Given the description of an element on the screen output the (x, y) to click on. 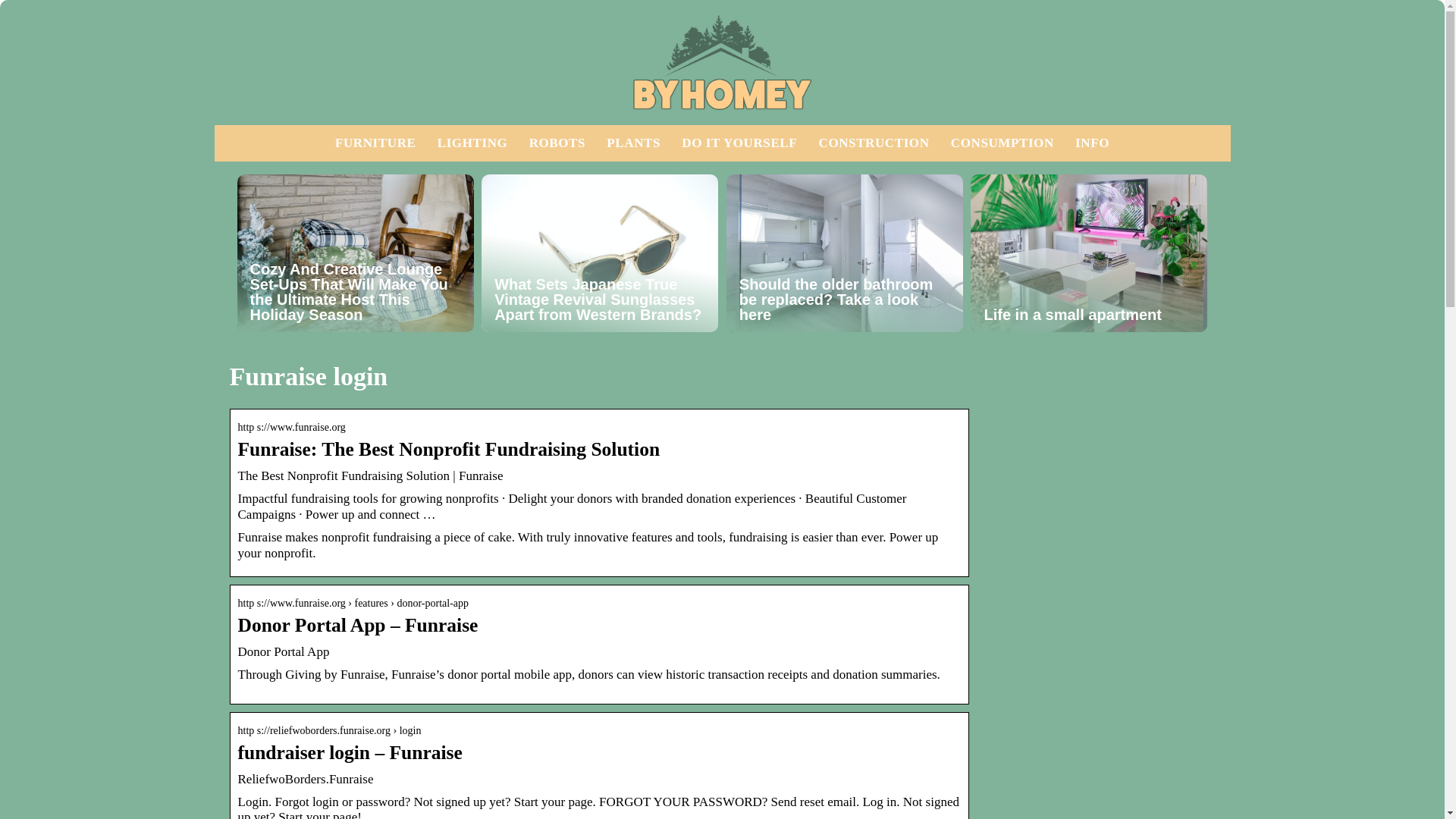
LIGHTING (473, 142)
FURNITURE (374, 142)
CONSTRUCTION (874, 142)
PLANTS (634, 142)
DO IT YOURSELF (738, 142)
Should the older bathroom be replaced? Take a look here (844, 253)
CONSUMPTION (1002, 142)
Life in a small apartment (1089, 253)
